Given the description of an element on the screen output the (x, y) to click on. 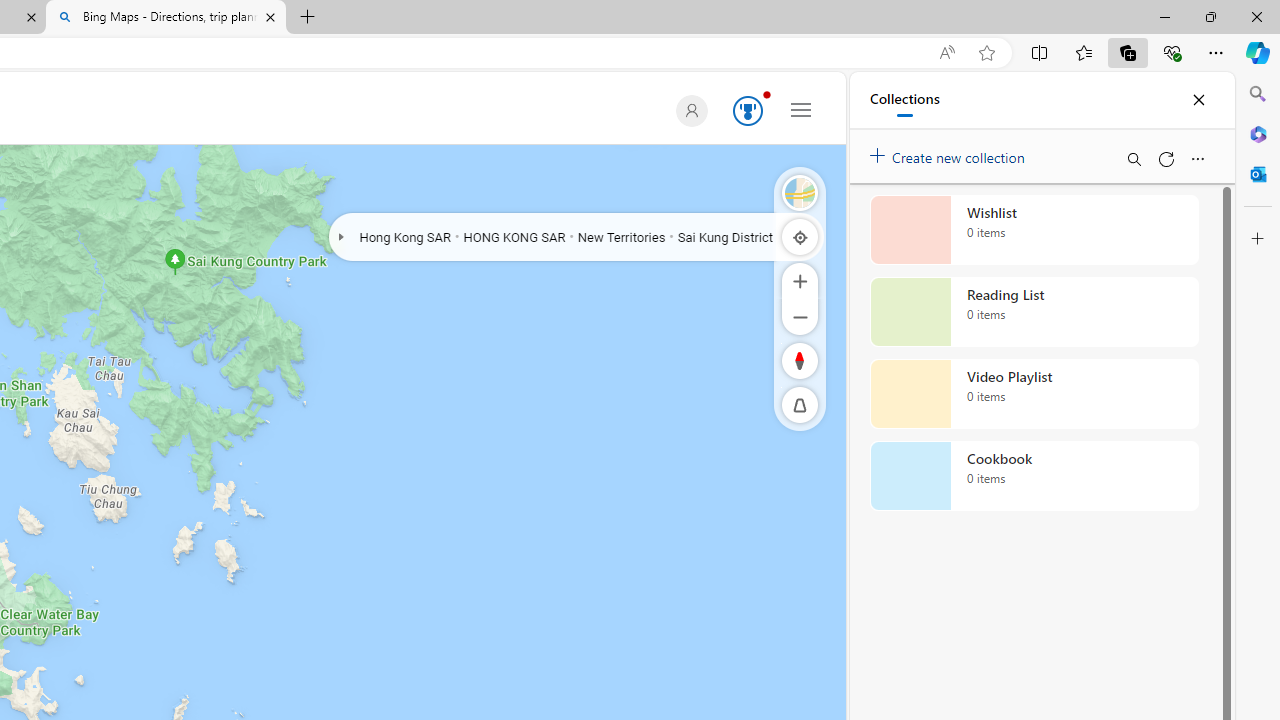
More options menu (1197, 158)
AutomationID: rh_meter (748, 110)
Default Profile Picture (691, 110)
Minimize (1164, 16)
Expand/Collapse Geochain (340, 236)
Road (799, 192)
Rotate Right (780, 360)
Copilot (Ctrl+Shift+.) (1258, 52)
AutomationID: serp_medal_svg (748, 110)
Video Playlist collection, 0 items (1034, 394)
Collections (1128, 52)
Cookbook collection, 0 items (1034, 475)
Zoom Out (799, 316)
Close (1198, 99)
Satellite (799, 192)
